Given the description of an element on the screen output the (x, y) to click on. 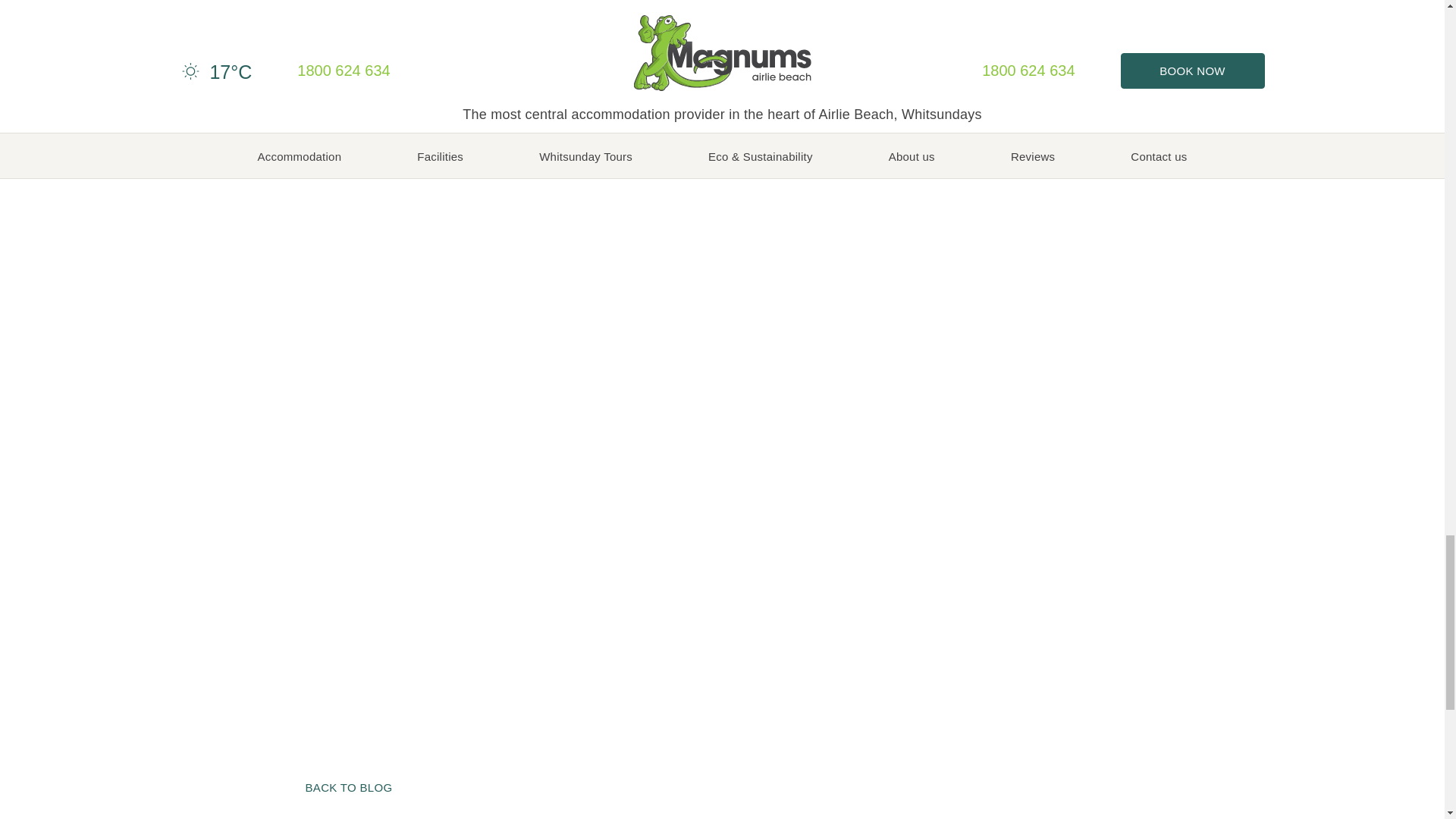
BACK TO BLOG (347, 787)
